Given the description of an element on the screen output the (x, y) to click on. 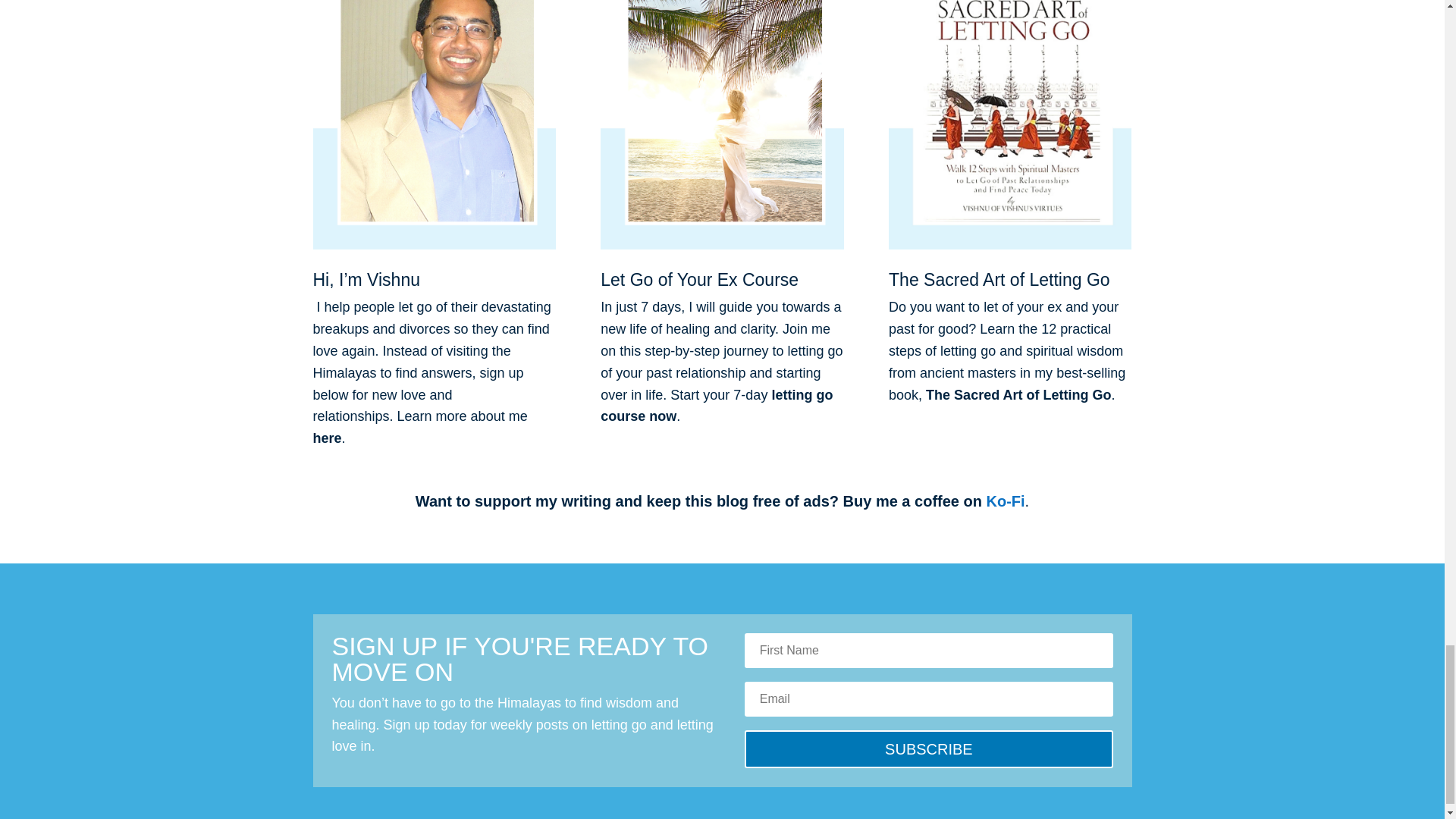
SUBSCRIBE (928, 749)
here (326, 437)
letting go course now (715, 406)
The Sacred Art of Letting Go (1018, 394)
Ko-Fi (1005, 501)
